Given the description of an element on the screen output the (x, y) to click on. 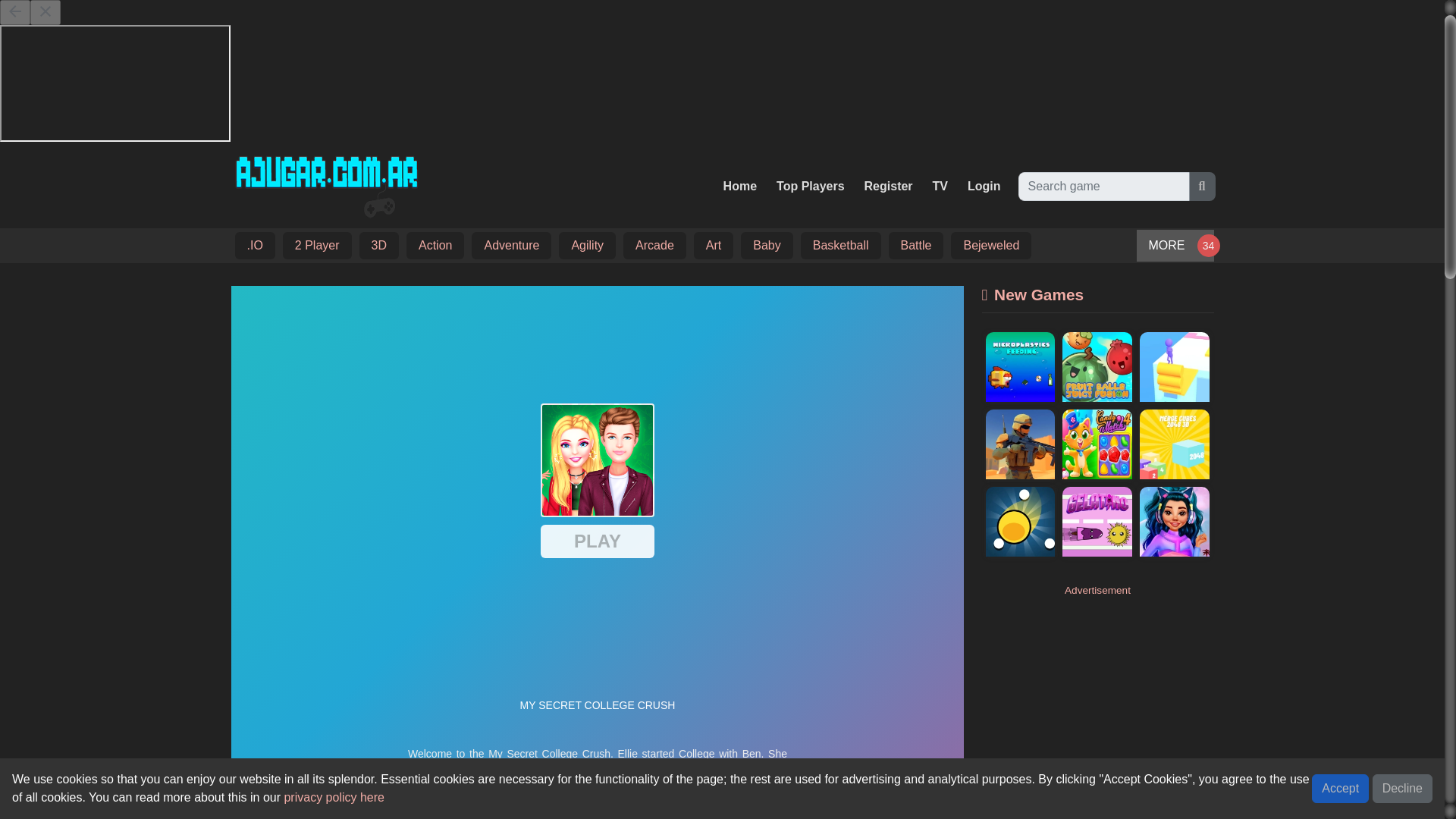
Battle (916, 245)
Bejeweled (991, 245)
Agility (587, 245)
.IO (254, 245)
Login (983, 186)
Top Players (810, 186)
TV (939, 186)
2 Player (317, 245)
Arcade (655, 245)
Home (739, 186)
3D (379, 245)
Art (713, 245)
Baby (766, 245)
Register (888, 186)
MORE (1173, 245)
